Given the description of an element on the screen output the (x, y) to click on. 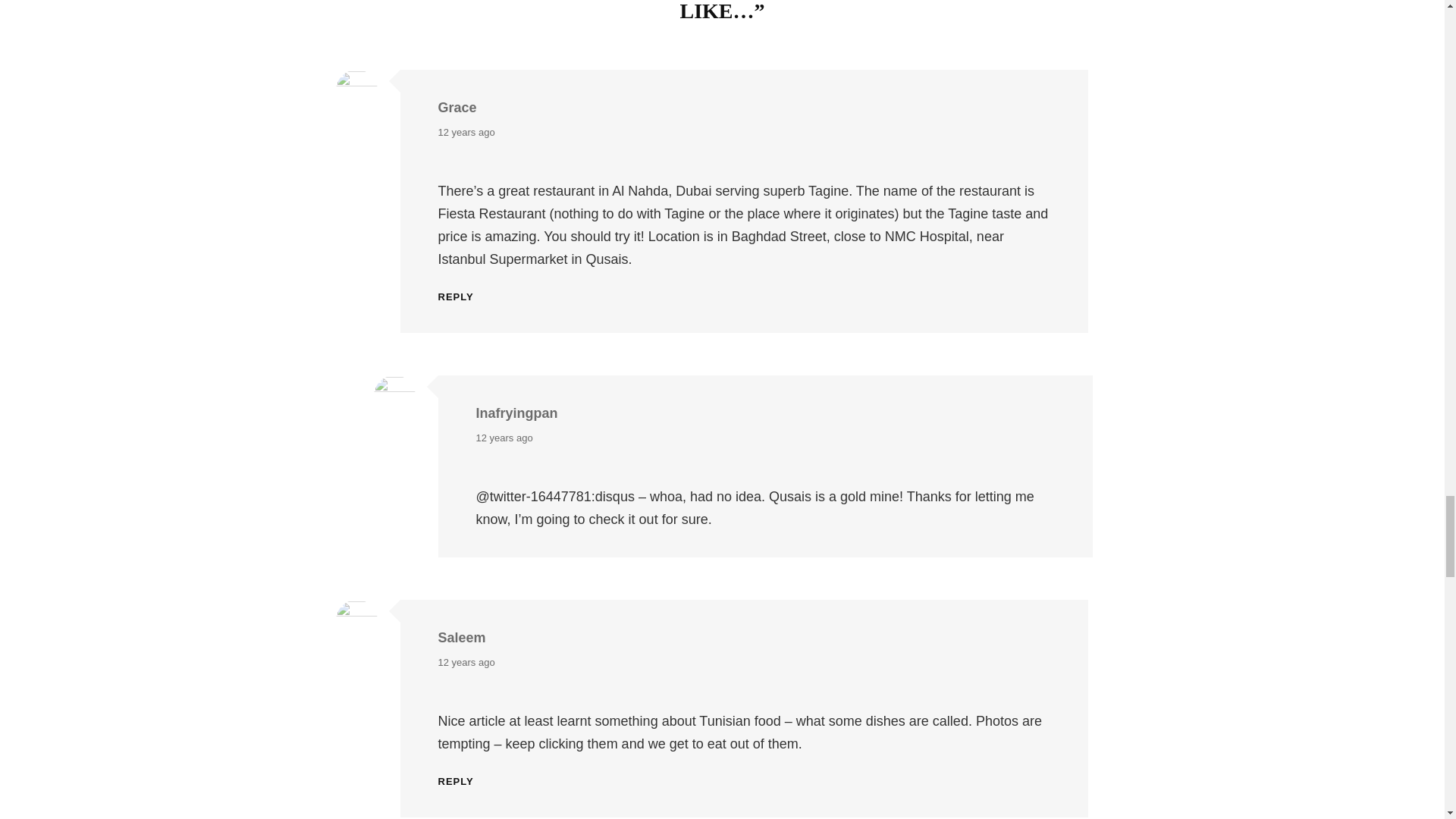
12 years ago (466, 132)
Grace (457, 107)
REPLY (456, 781)
REPLY (456, 296)
12 years ago (466, 662)
12 years ago (504, 437)
